Given the description of an element on the screen output the (x, y) to click on. 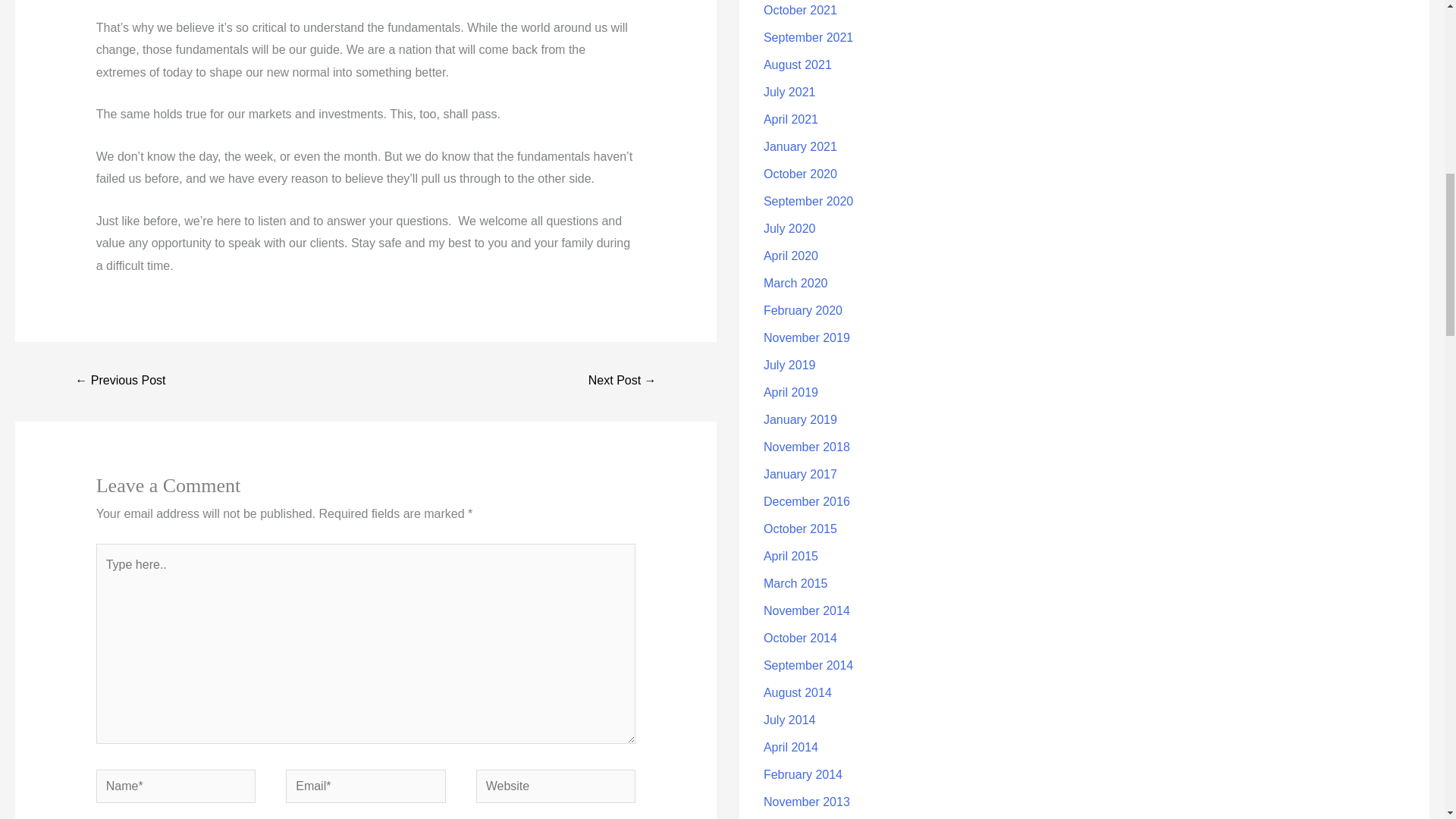
Don't Overreact to the Movements (622, 381)
April 2021 (790, 119)
August 2021 (796, 64)
We're Here to Help (119, 381)
October 2021 (799, 10)
September 2021 (807, 37)
July 2021 (788, 91)
